Given the description of an element on the screen output the (x, y) to click on. 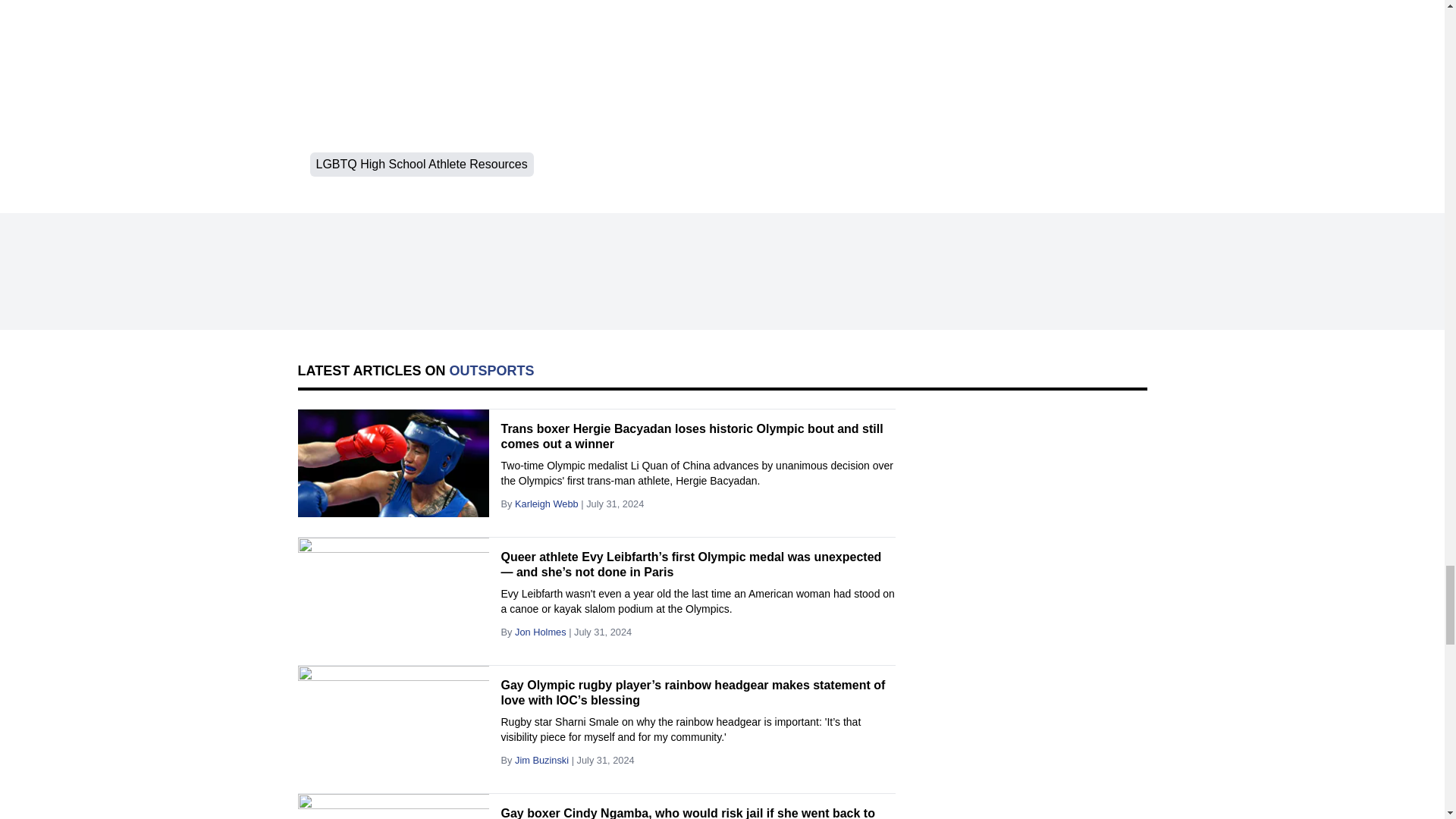
Karleigh Webb (546, 503)
Jim Buzinski (542, 759)
LGBTQ High School Athlete Resources (420, 164)
Jon Holmes (540, 632)
